Given the description of an element on the screen output the (x, y) to click on. 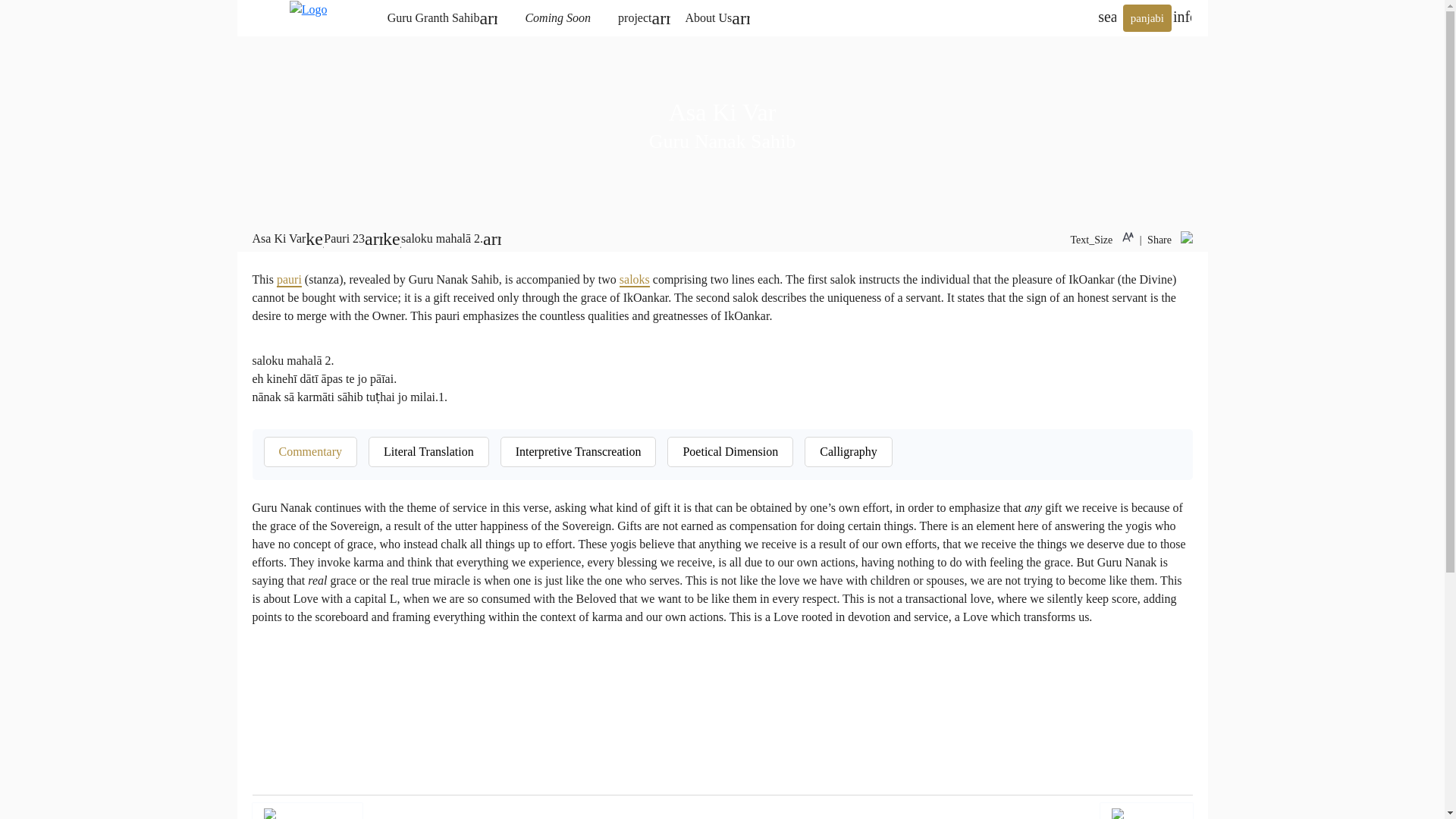
panjabi (1147, 17)
saloks (634, 279)
Coming Soon (557, 18)
pauri (288, 279)
